Given the description of an element on the screen output the (x, y) to click on. 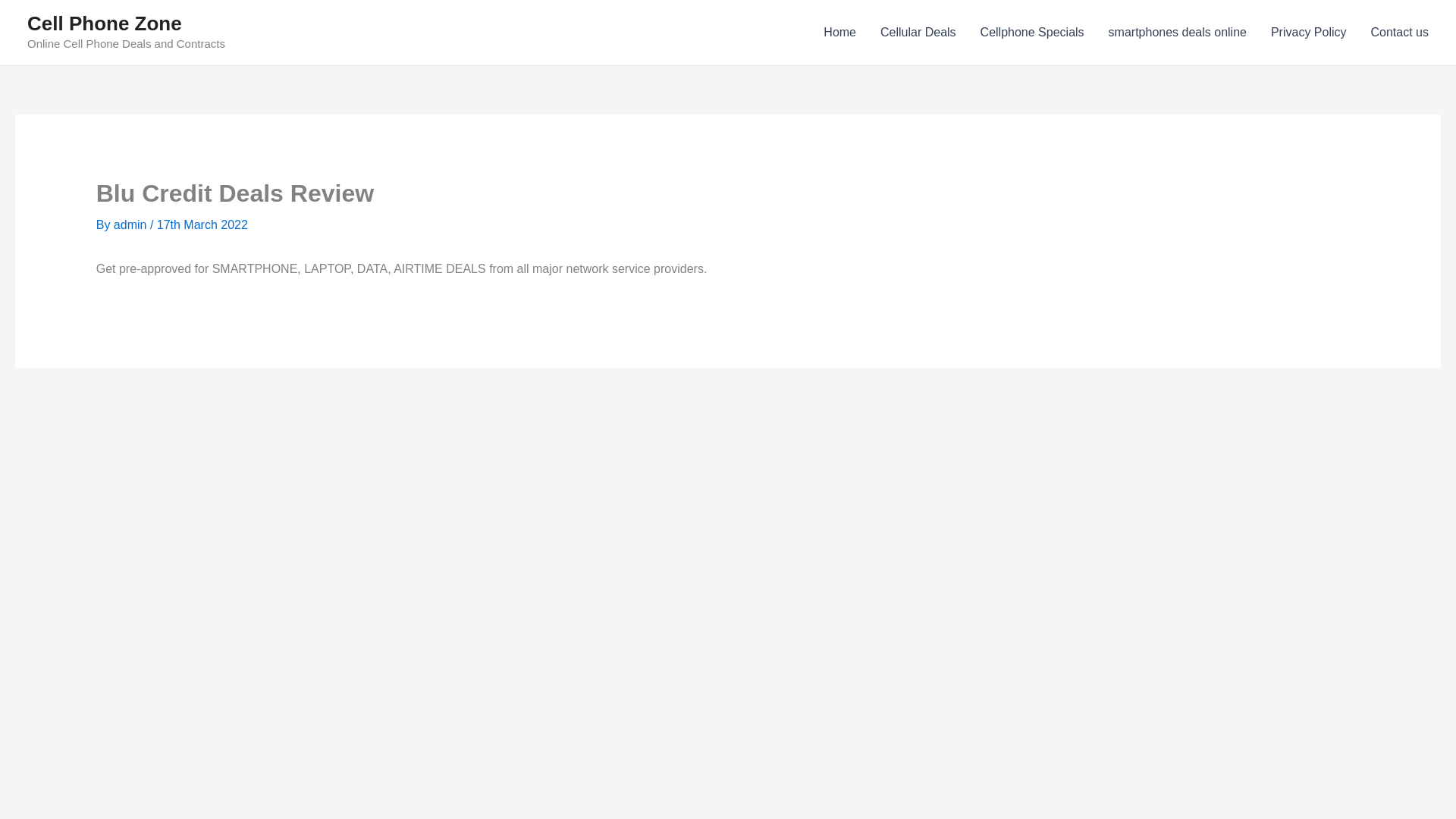
smartphones deals online (1177, 32)
View all posts by admin (131, 224)
Contact us (1399, 32)
admin (131, 224)
Home (838, 32)
Cellphone Specials (1032, 32)
Cellular Deals (917, 32)
Cell Phone Zone (104, 23)
Privacy Policy (1308, 32)
